Given the description of an element on the screen output the (x, y) to click on. 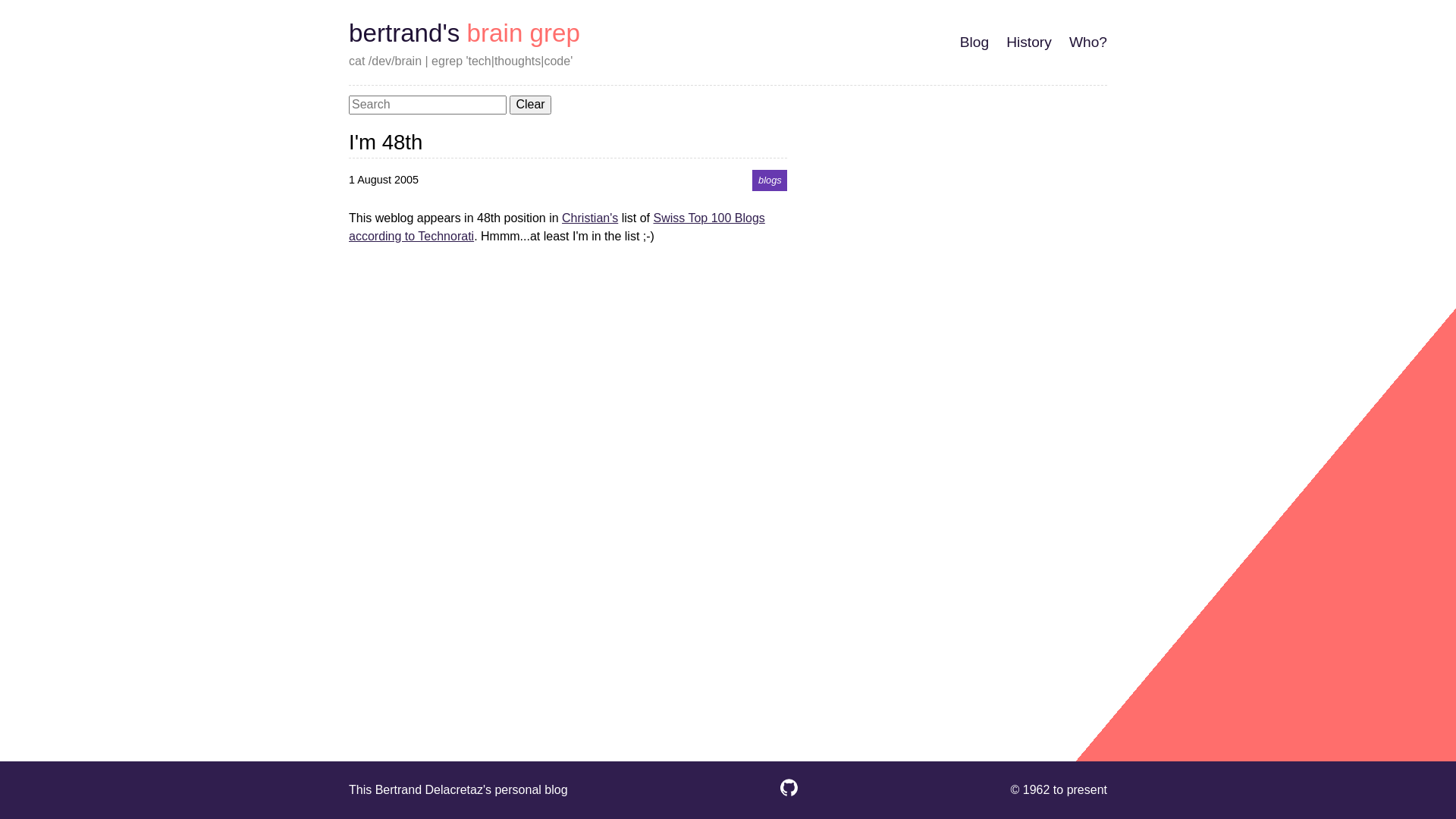
Who? Element type: text (1088, 42)
This Bertrand Delacretaz's personal blog Element type: text (457, 789)
bertrand's brain grep Element type: text (464, 32)
Swiss Top 100 Blogs according to Technorati Element type: text (556, 226)
Clear Element type: text (529, 104)
Christian's Element type: text (589, 217)
github icon Element type: text (788, 795)
blogs Element type: text (769, 180)
History Element type: text (1028, 42)
Blog Element type: text (974, 42)
